Given the description of an element on the screen output the (x, y) to click on. 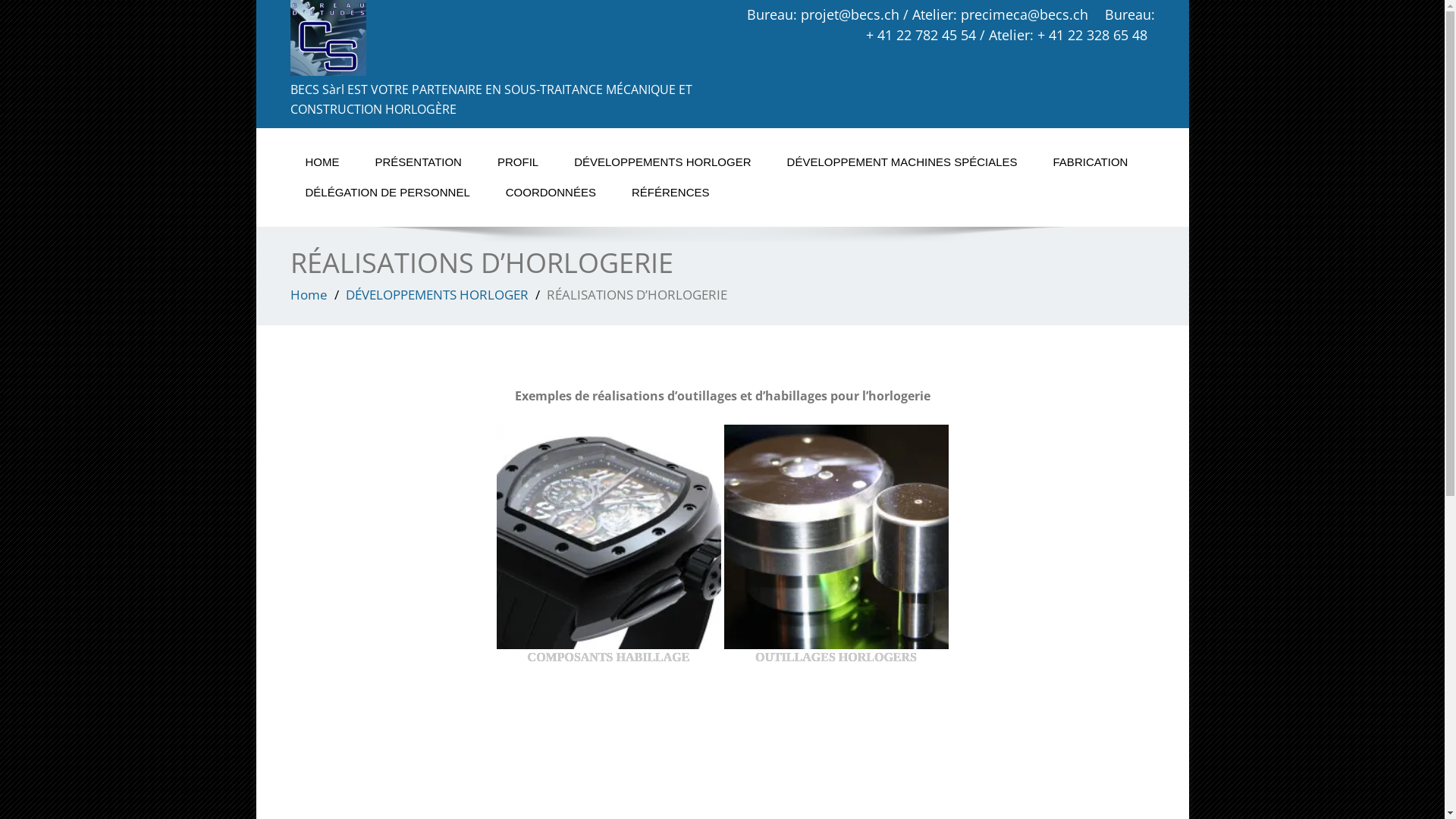
COMPOSANTS HABILLAGE Element type: hover (608, 536)
OUTILLAGES HORLOGERS Element type: text (835, 544)
PROFIL Element type: text (517, 162)
COMPOSANTS HABILLAGE Element type: text (607, 544)
Bureau: + 41 22 782 45 54 / Atelier: + 41 22 328 65 48 Element type: text (1010, 24)
FABRICATION Element type: text (1090, 162)
HOME Element type: text (321, 162)
Bureau: projet@becs.ch / Atelier: precimeca@becs.ch Element type: text (916, 14)
OUTILLAGES HORLOGERS Element type: hover (835, 536)
Home Element type: text (307, 294)
